Given the description of an element on the screen output the (x, y) to click on. 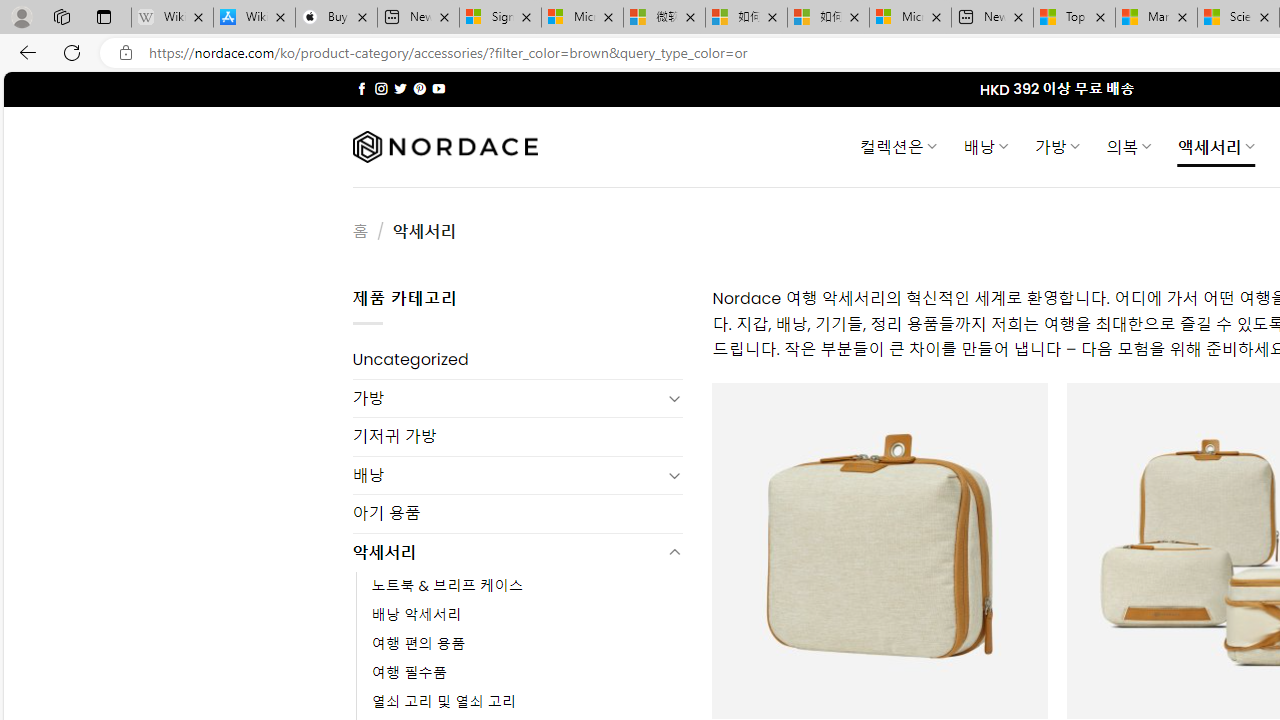
Follow on YouTube (438, 88)
Follow on Twitter (400, 88)
Marine life - MSN (1156, 17)
Microsoft account | Account Checkup (910, 17)
Follow on Instagram (381, 88)
Follow on Pinterest (419, 88)
